Given the description of an element on the screen output the (x, y) to click on. 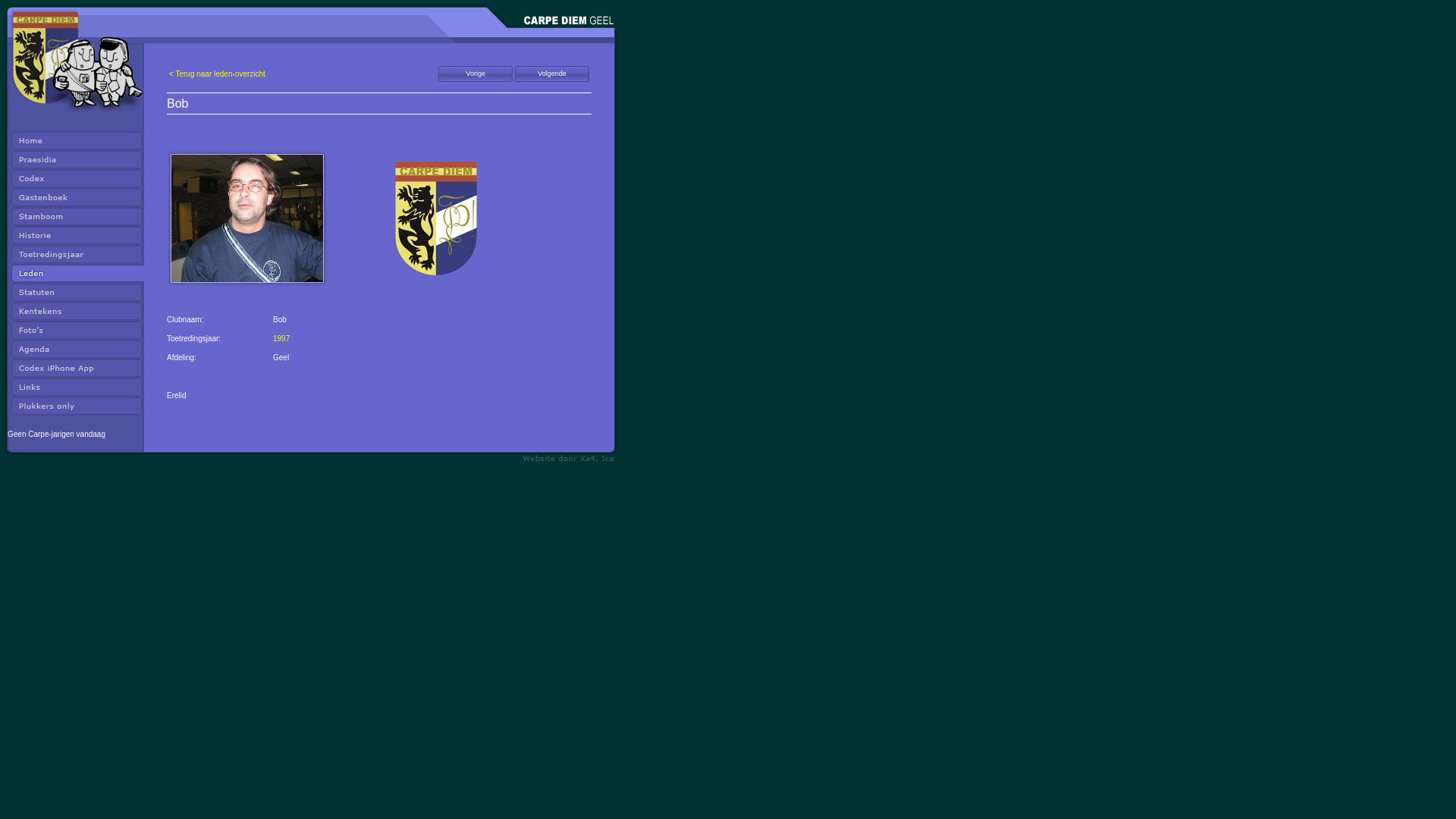
< Terug naar leden-overzicht Element type: text (217, 73)
1997 Element type: text (281, 338)
Vorige Element type: text (475, 73)
Volgende Element type: text (551, 73)
